Given the description of an element on the screen output the (x, y) to click on. 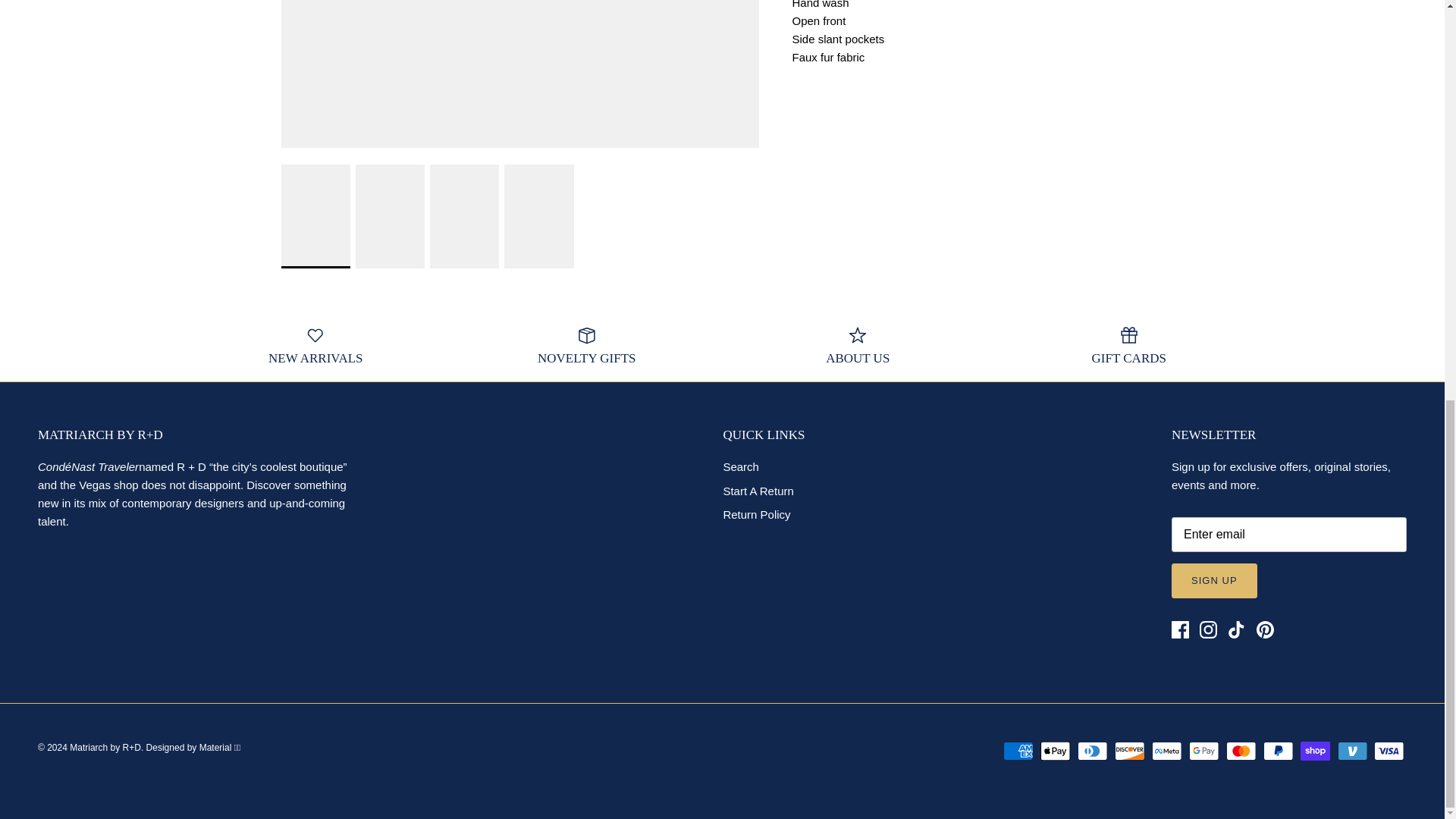
American Express (1018, 751)
Discover (1129, 751)
Diners Club (1092, 751)
Apple Pay (1055, 751)
Instagram (1208, 630)
Facebook (1180, 630)
Pinterest (1263, 630)
